Given the description of an element on the screen output the (x, y) to click on. 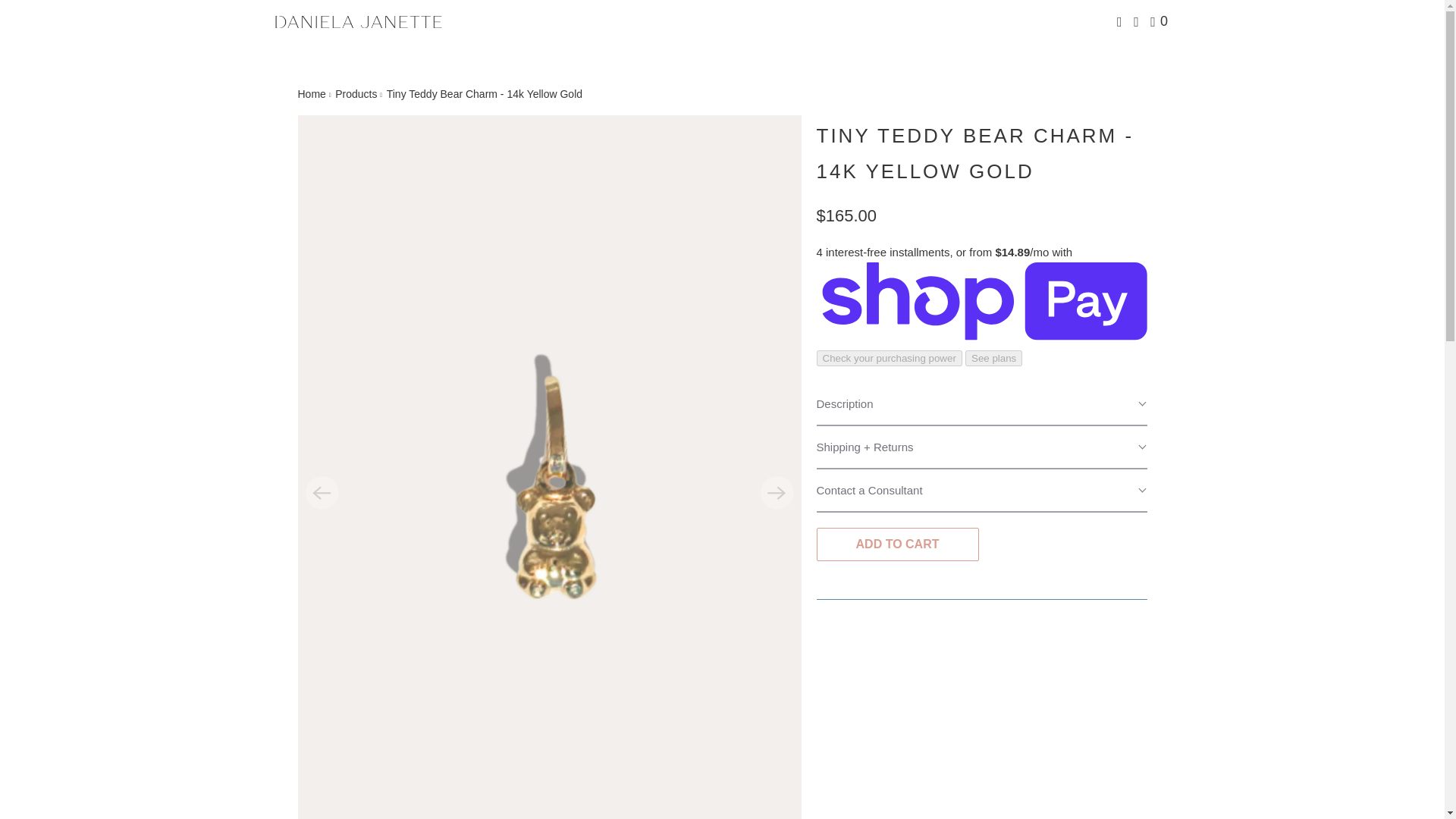
TINY TEDDY BEAR CHARM - 14K YELLOW GOLD (974, 153)
ADD TO CART (896, 544)
Daniela Janette (358, 21)
Products (355, 93)
Daniela Janette (310, 93)
Contact a Consultant (981, 490)
Description (981, 404)
0 (1160, 21)
Products (355, 93)
Home (310, 93)
